Given the description of an element on the screen output the (x, y) to click on. 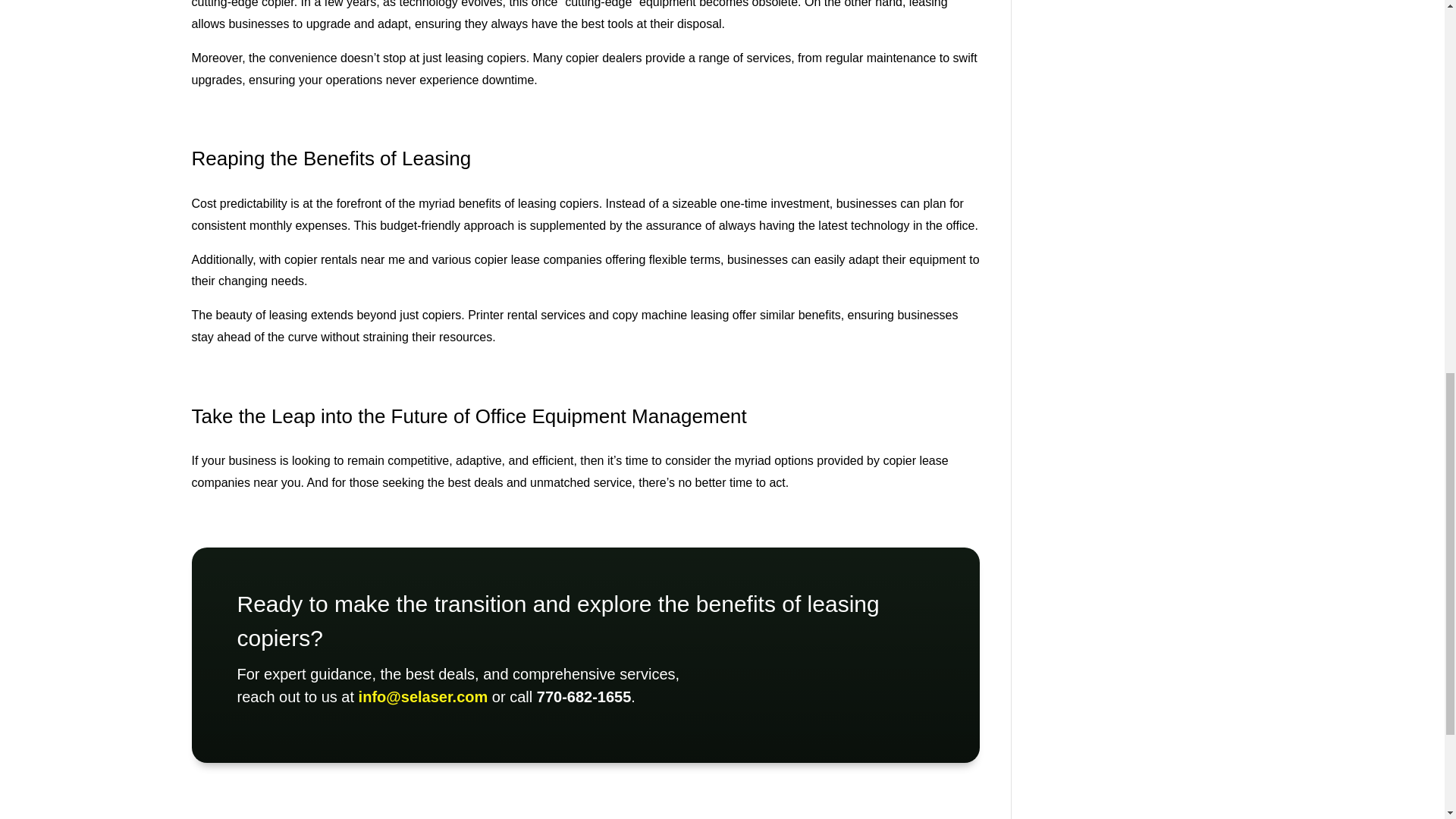
Office Equipment Management (611, 415)
